Given the description of an element on the screen output the (x, y) to click on. 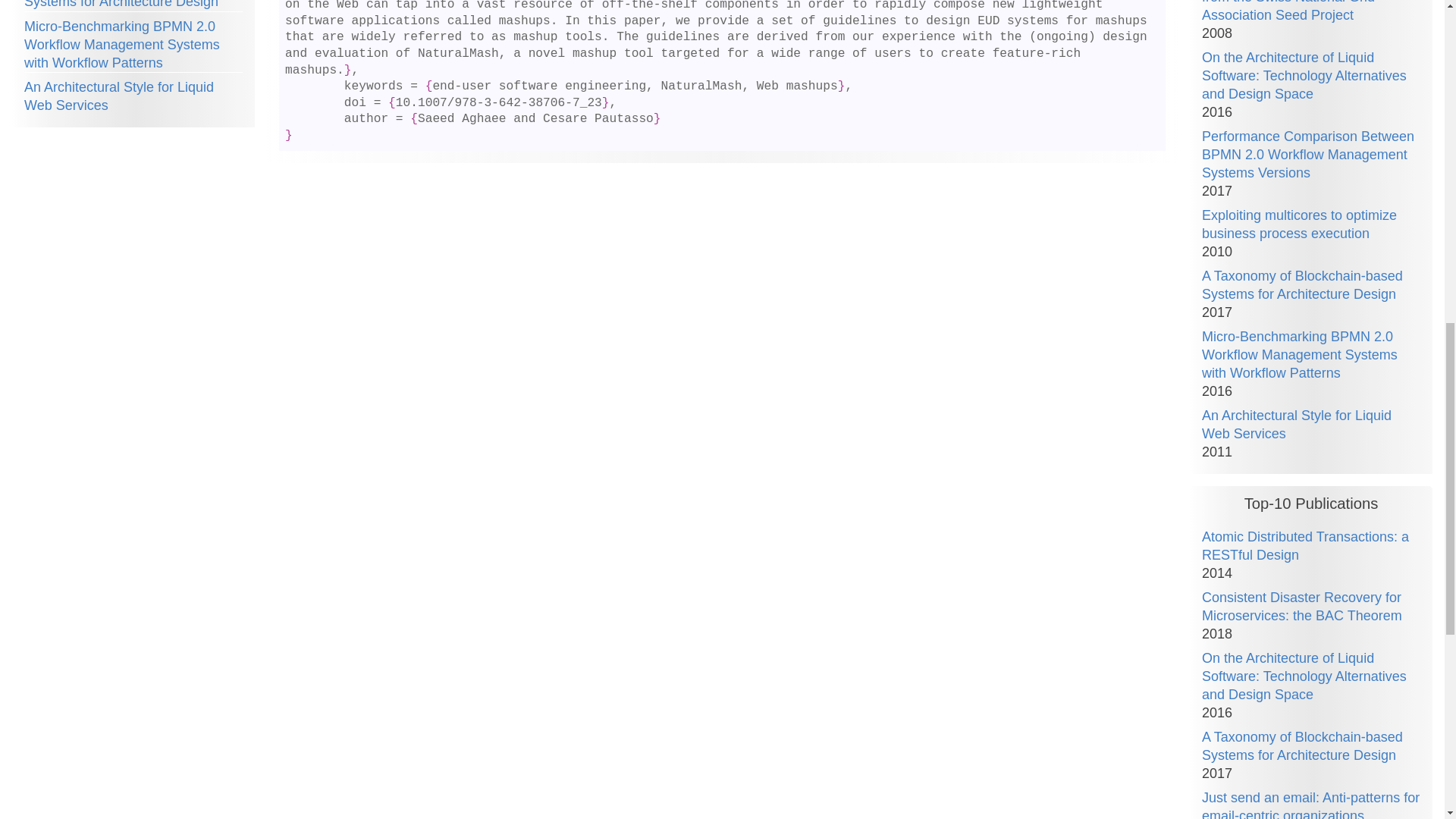
An Architectural Style for Liquid Web Services (119, 96)
